Given the description of an element on the screen output the (x, y) to click on. 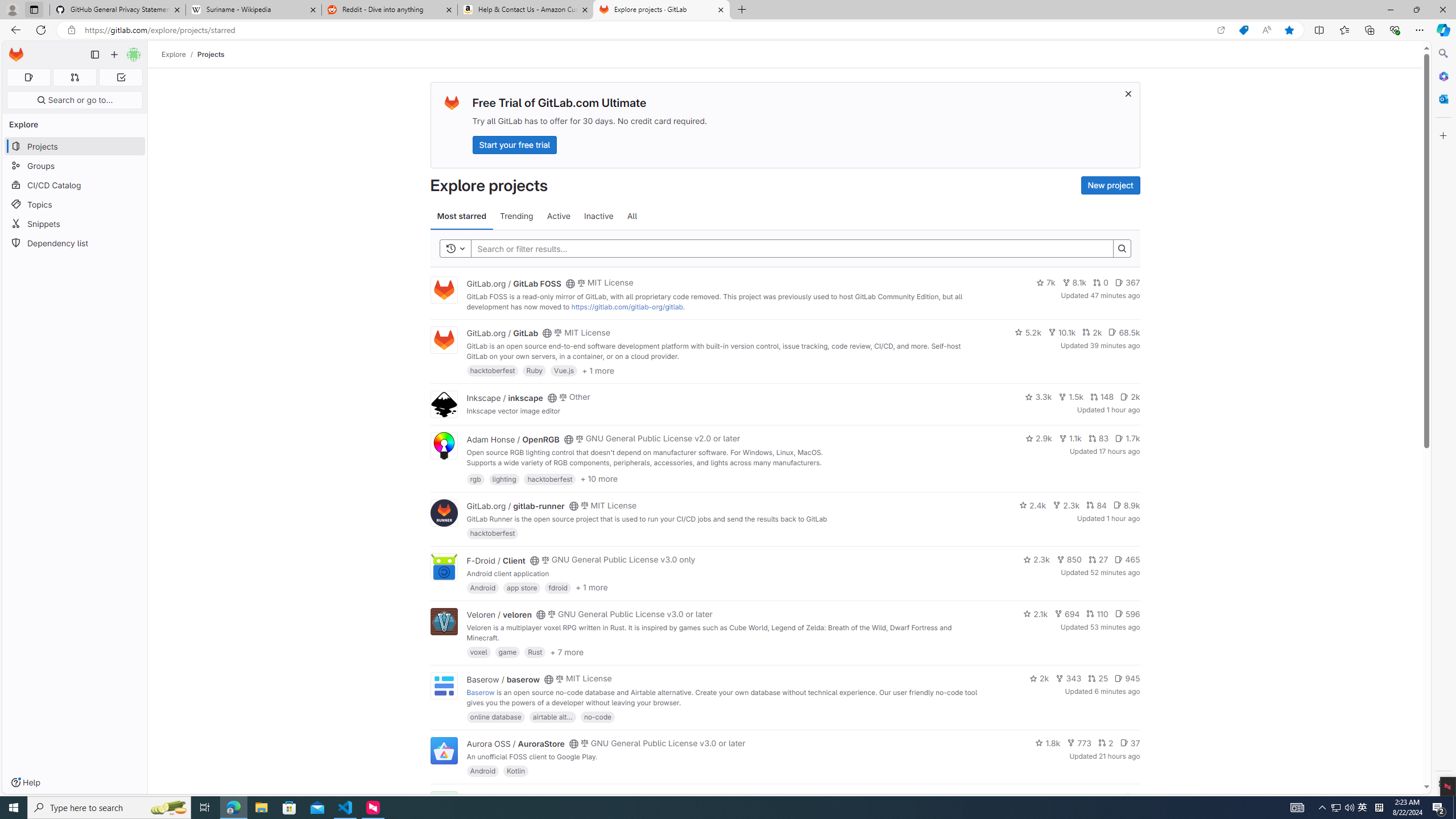
Edouard Klein / falsisign (512, 797)
3.3k (1038, 396)
Baserow (480, 691)
GitLab.org / gitlab-runner (514, 506)
694 (1067, 613)
Class: s16 (568, 798)
Topics (74, 203)
Class: s16 gl-icon gl-button-icon  (1127, 93)
110 (1097, 613)
Create new... (113, 54)
Active (559, 216)
Toggle history (455, 248)
